Given the description of an element on the screen output the (x, y) to click on. 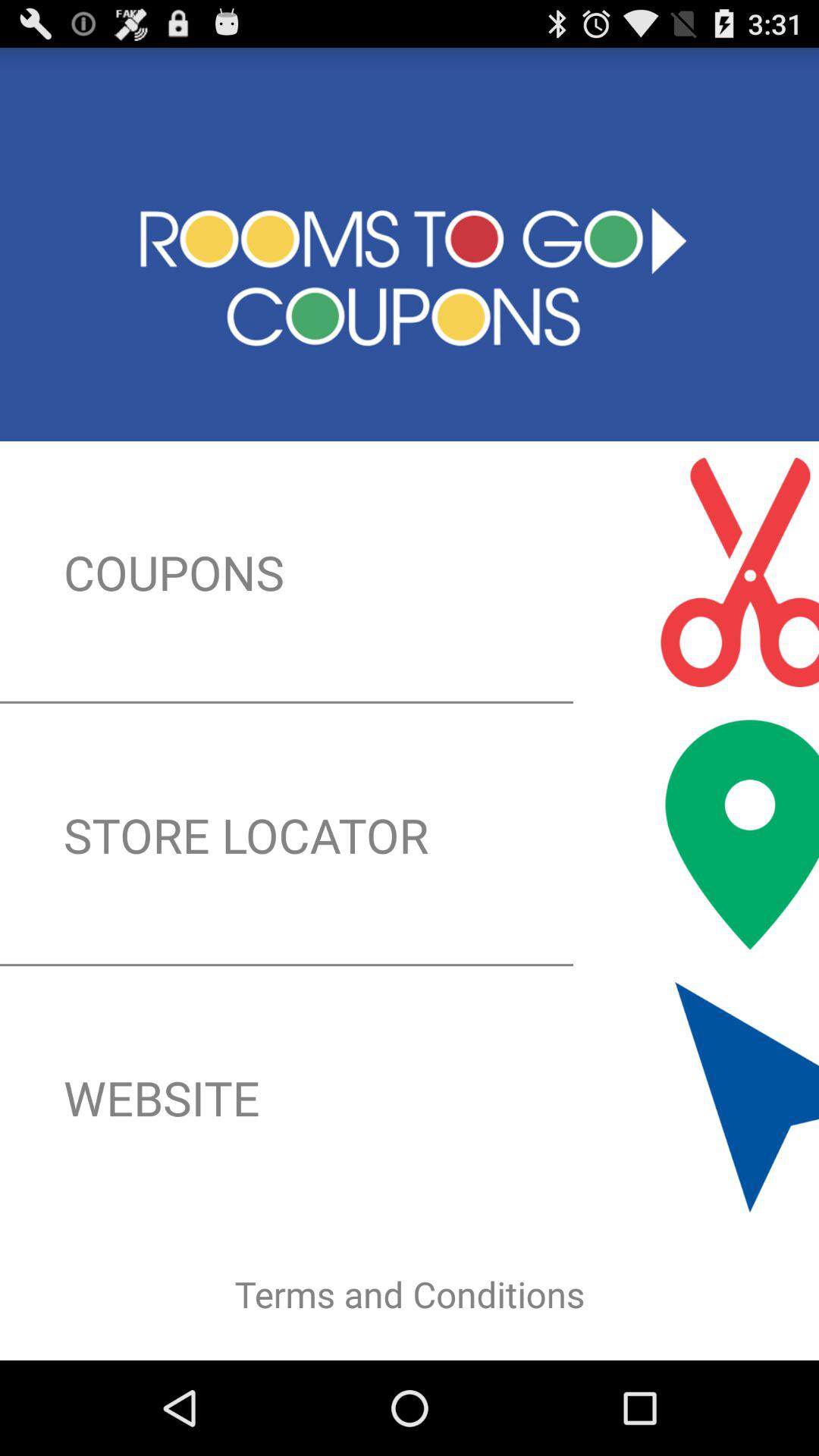
swipe to website button (409, 1097)
